Given the description of an element on the screen output the (x, y) to click on. 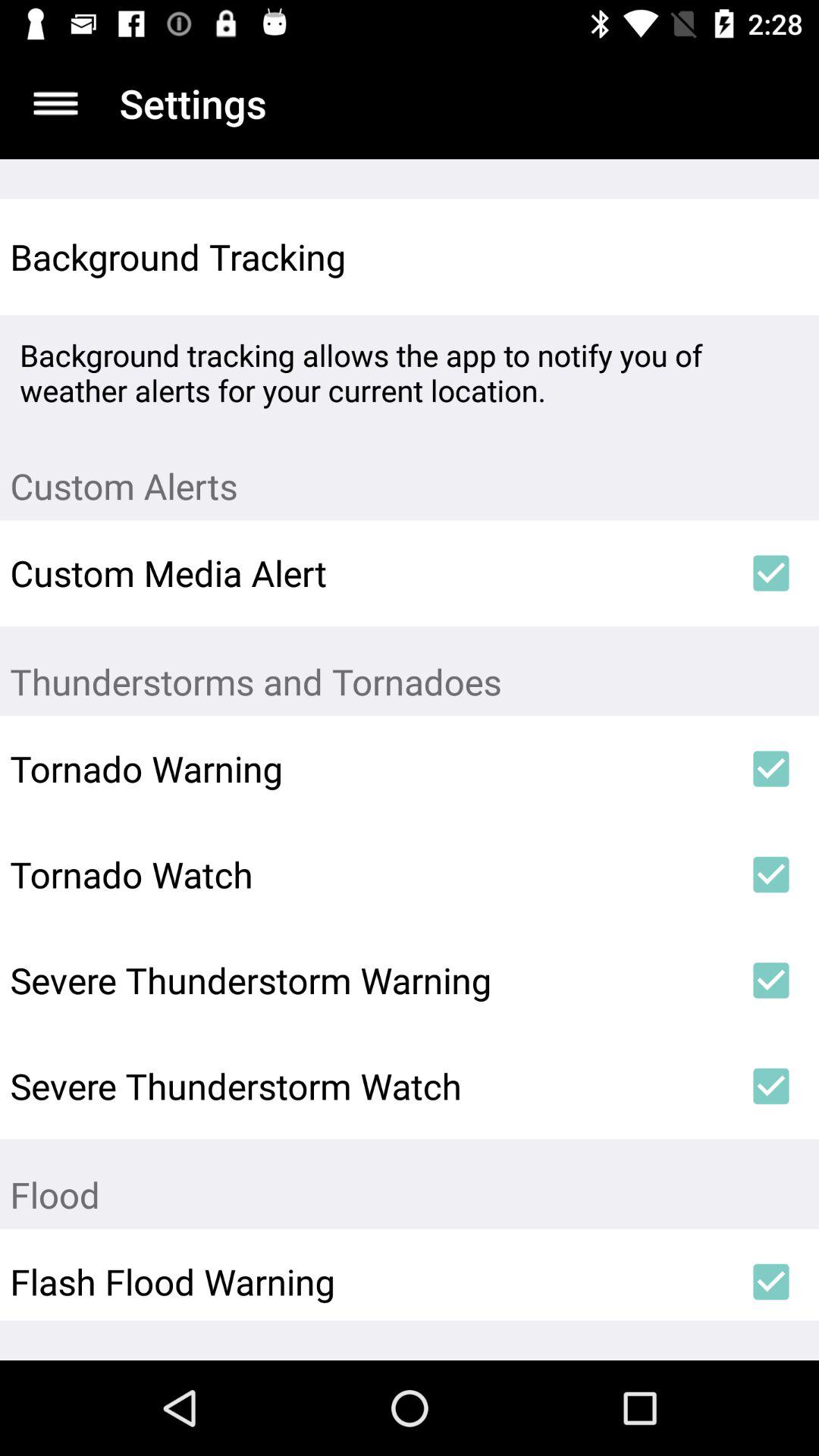
click item next to the severe thunderstorm warning icon (771, 980)
